Given the description of an element on the screen output the (x, y) to click on. 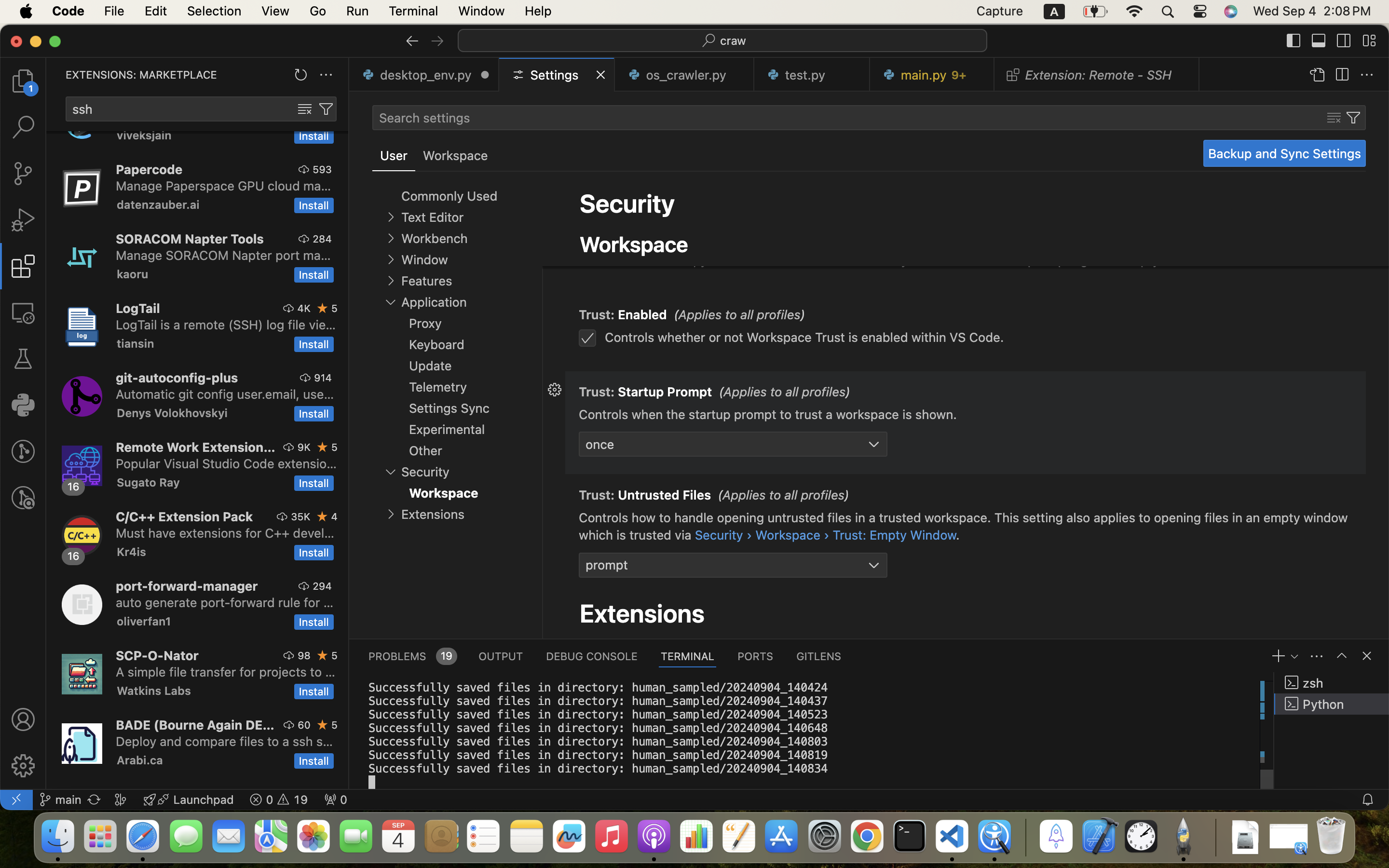
Text Editor Element type: AXStaticText (432, 217)
0 main.py   9+ Element type: AXRadioButton (932, 74)
SORACOM Napter Tools Element type: AXStaticText (189, 238)
 Element type: AXCheckBox (1293, 40)
 Element type: AXCheckBox (1344, 40)
